Given the description of an element on the screen output the (x, y) to click on. 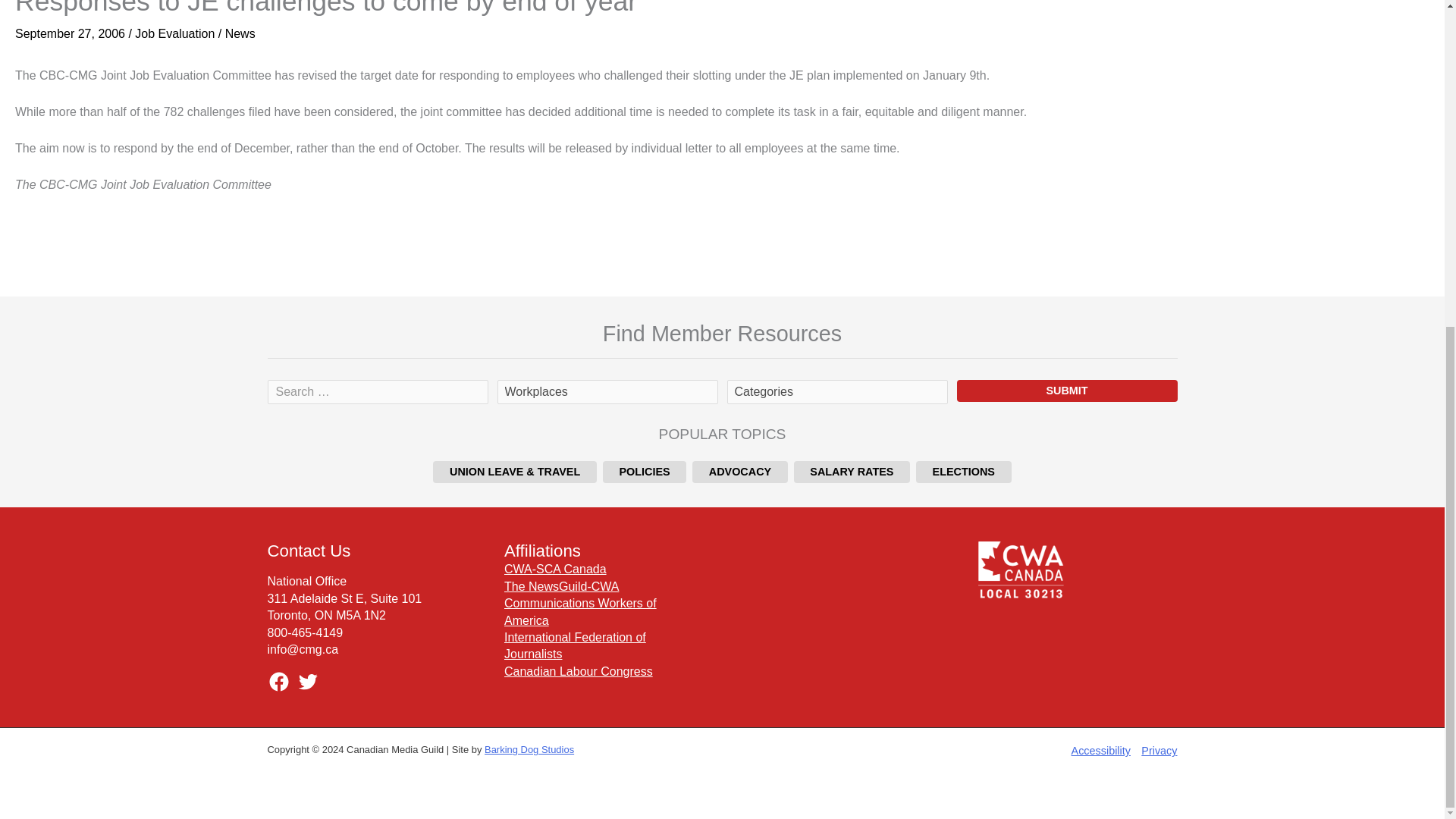
Submit (1066, 391)
Categories (835, 392)
Workplaces (606, 392)
